Given the description of an element on the screen output the (x, y) to click on. 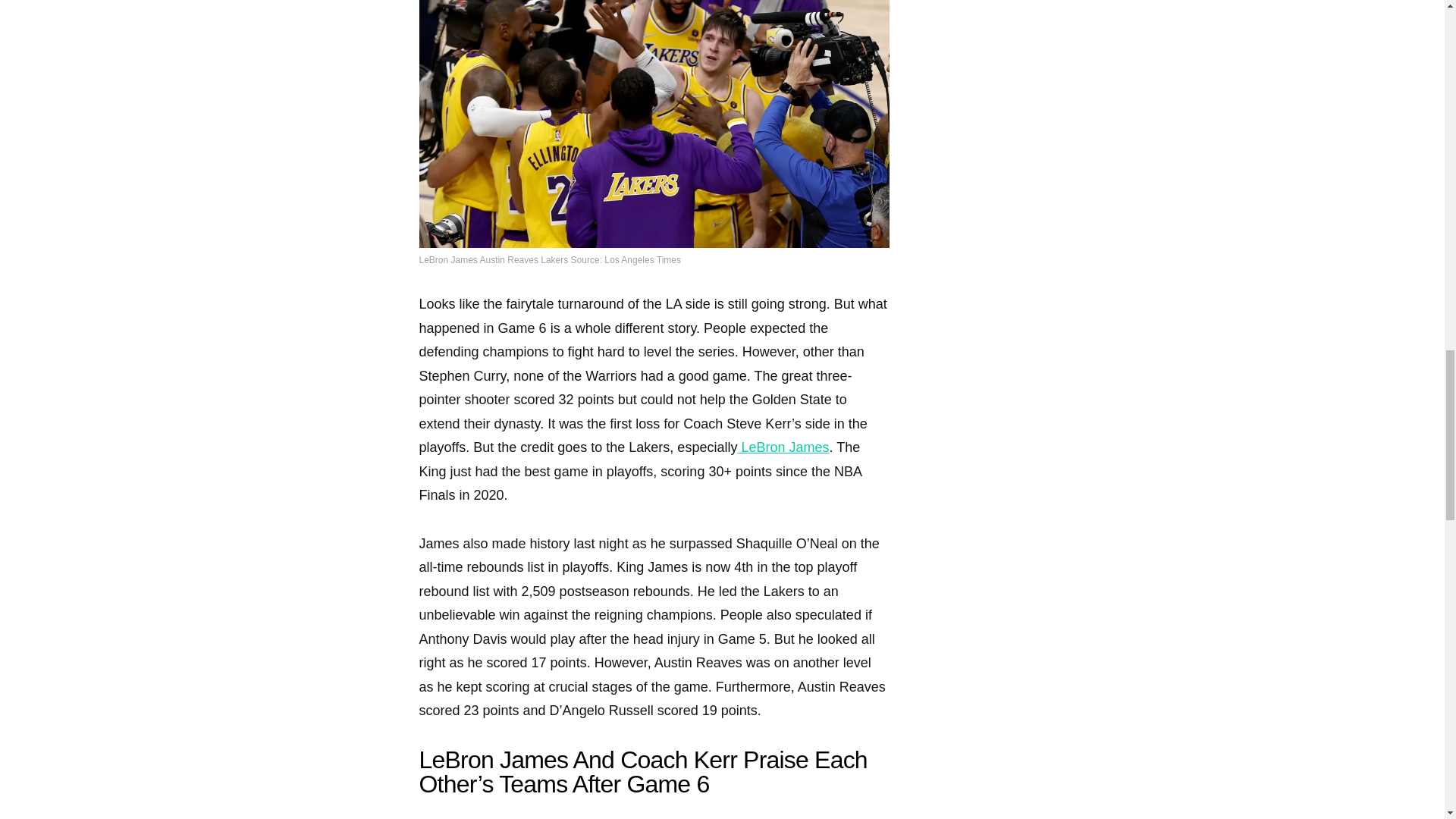
LeBron James (782, 447)
